Given the description of an element on the screen output the (x, y) to click on. 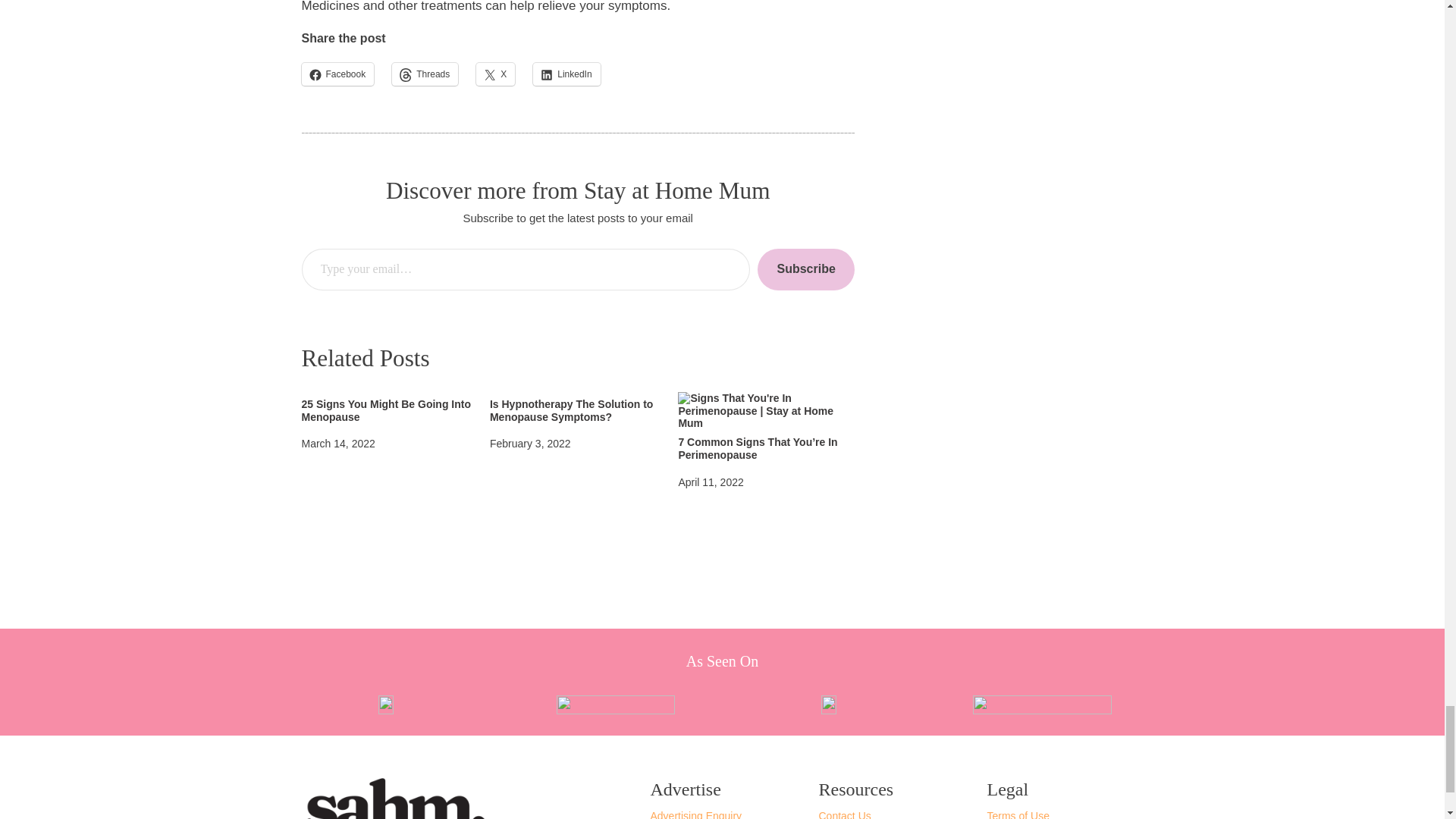
Please fill in this field. (526, 269)
